Given the description of an element on the screen output the (x, y) to click on. 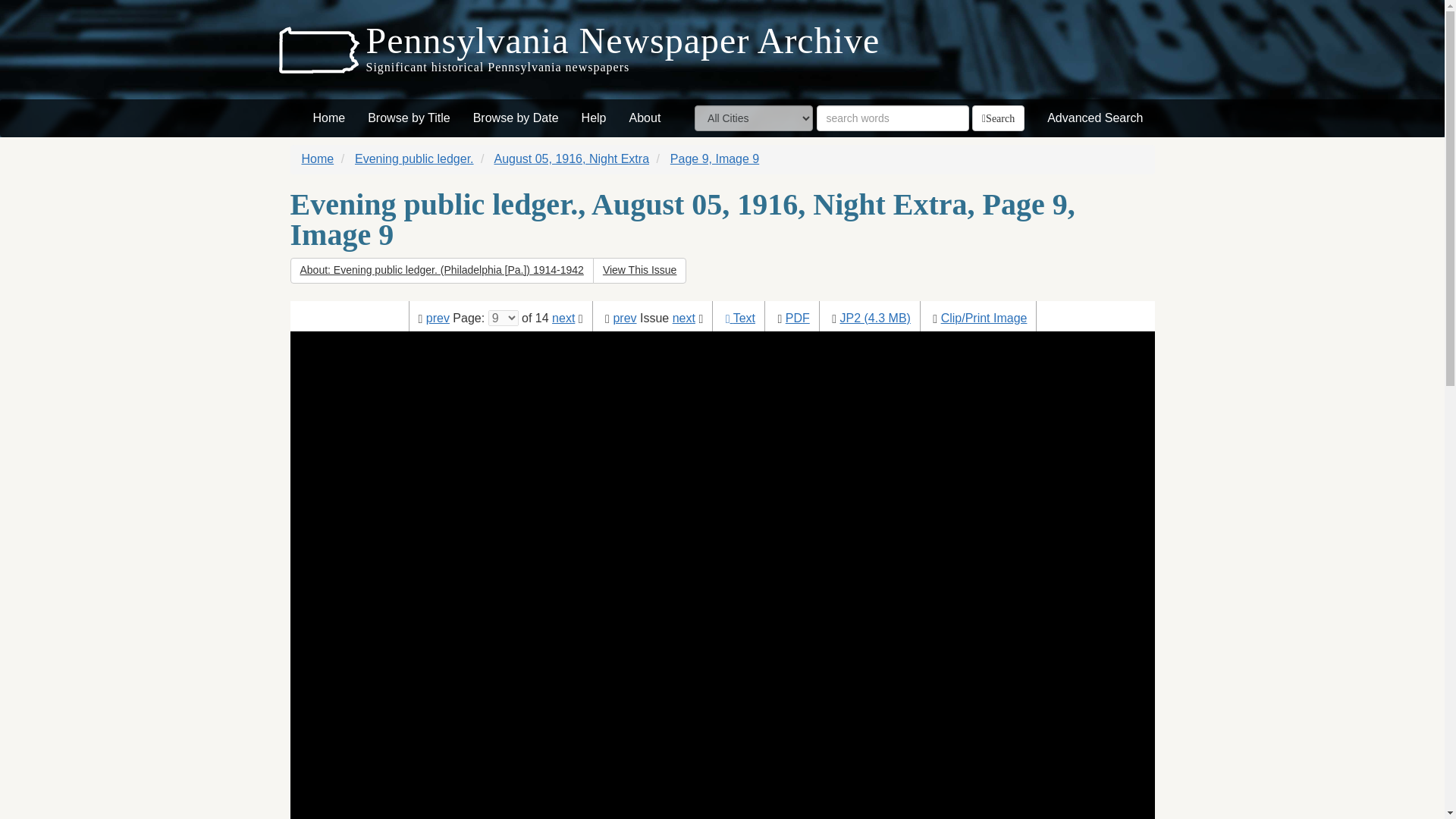
PDF (797, 318)
Search (998, 118)
Home (317, 158)
Browse by Title (408, 118)
August 05, 1916, Night Extra (571, 158)
Home (328, 118)
Evening public ledger. (414, 158)
About (644, 118)
next (563, 318)
Page 9, Image 9 (713, 158)
